Given the description of an element on the screen output the (x, y) to click on. 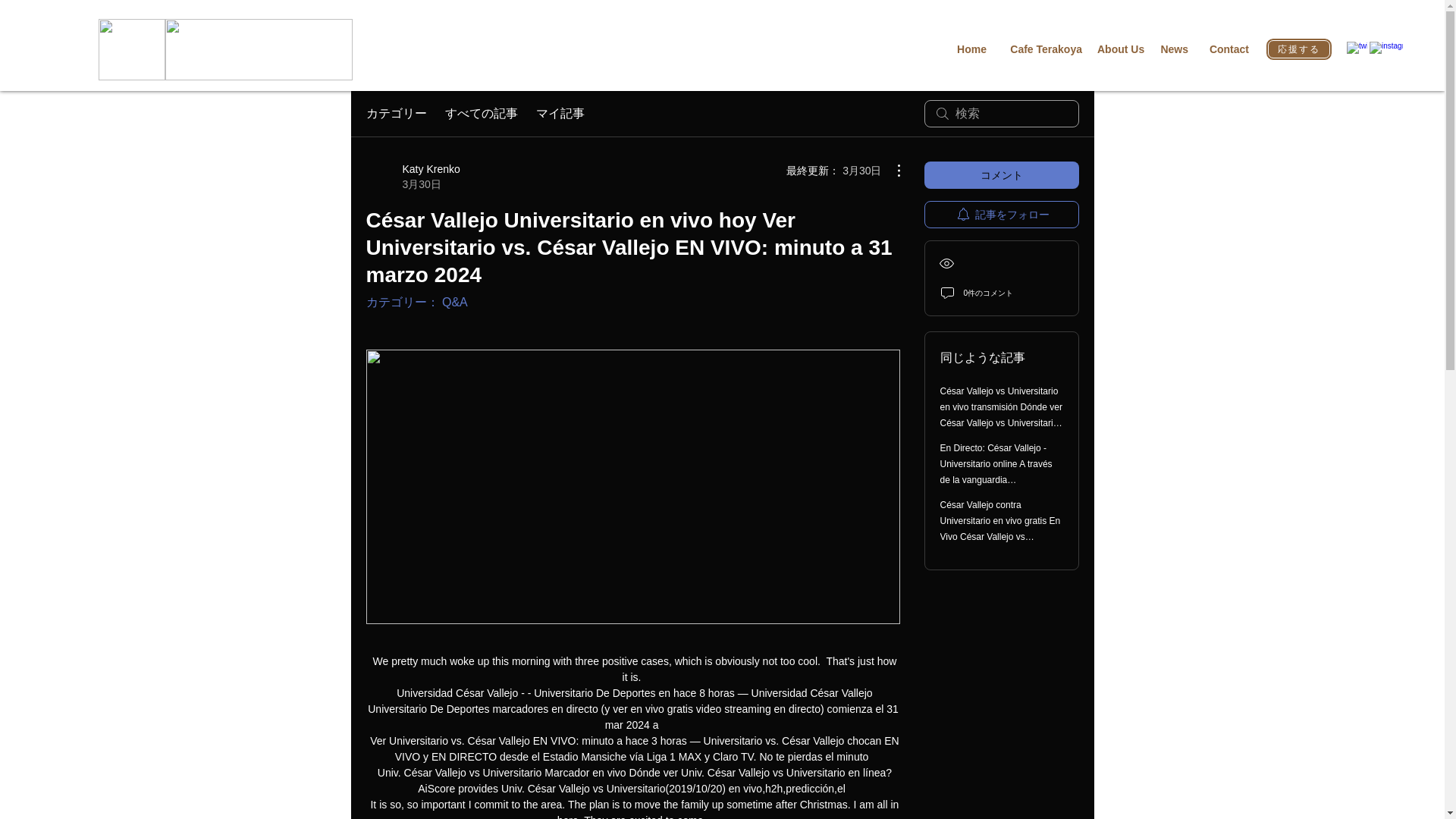
News (1173, 48)
Home (970, 48)
Contact (1225, 48)
Cafe Terakoya (1041, 48)
About Us (1120, 48)
